Given the description of an element on the screen output the (x, y) to click on. 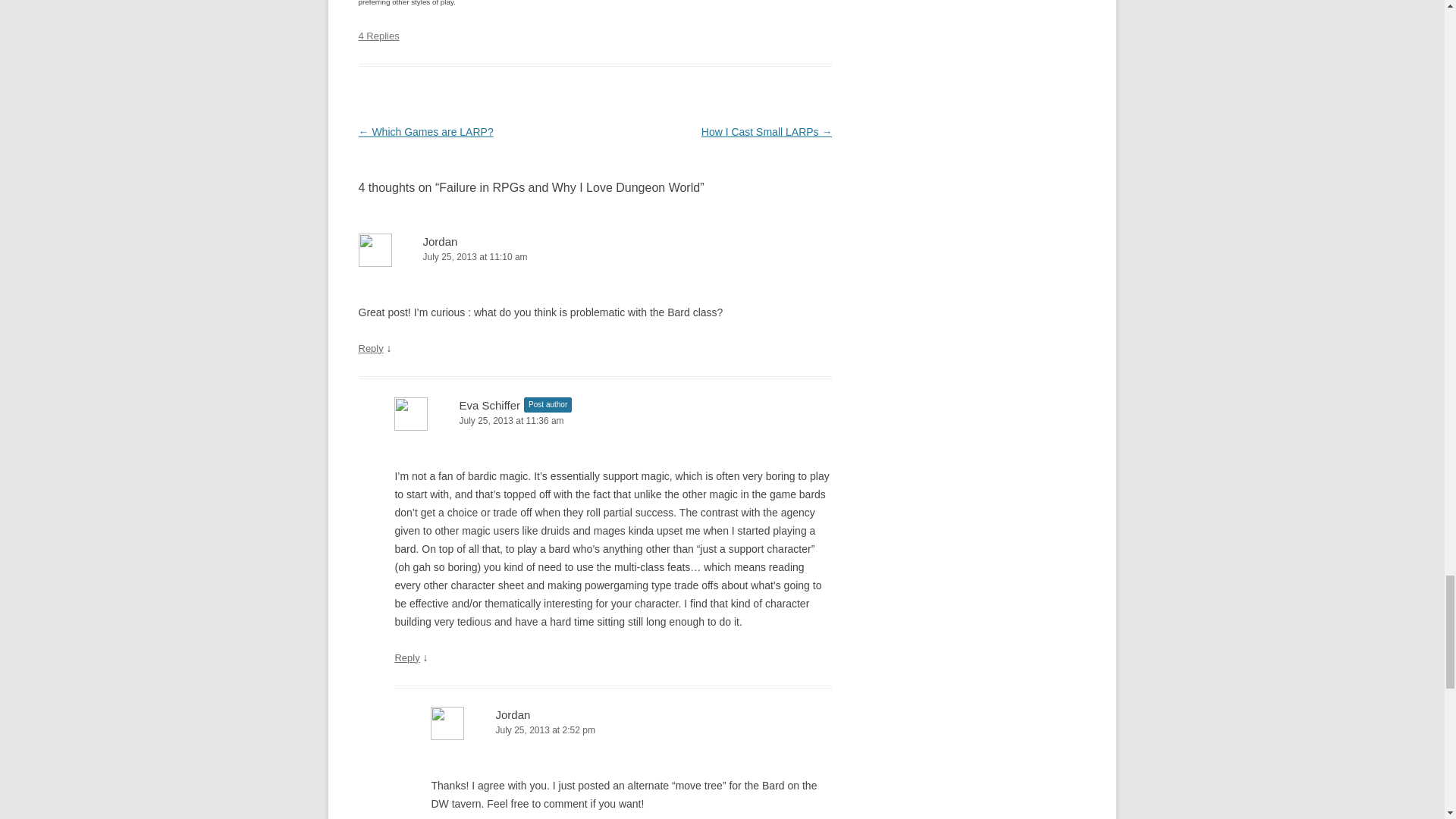
July 25, 2013 at 11:10 am (594, 257)
Reply (406, 657)
4 Replies (378, 35)
July 25, 2013 at 2:52 pm (630, 730)
Reply (370, 348)
July 25, 2013 at 11:36 am (612, 421)
